Given the description of an element on the screen output the (x, y) to click on. 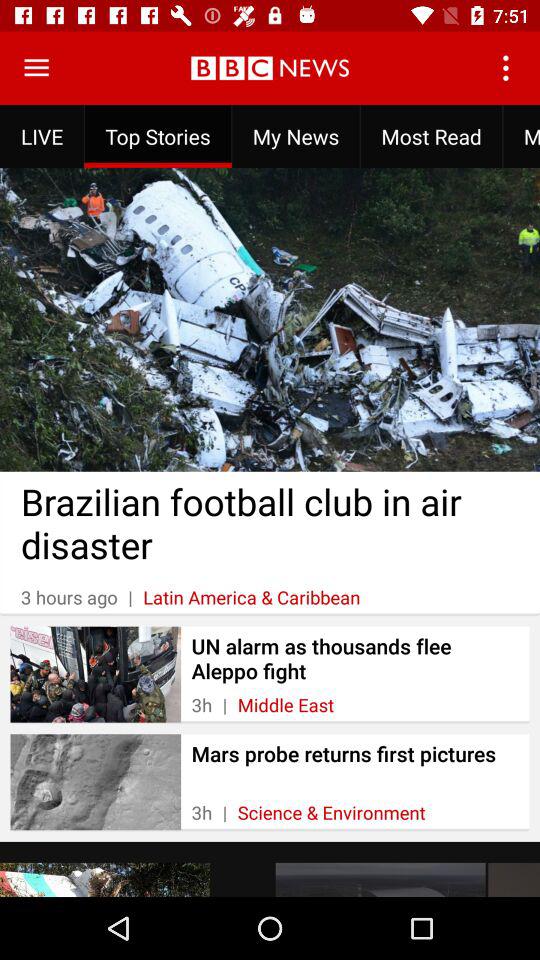
flip to the most watched (521, 136)
